Given the description of an element on the screen output the (x, y) to click on. 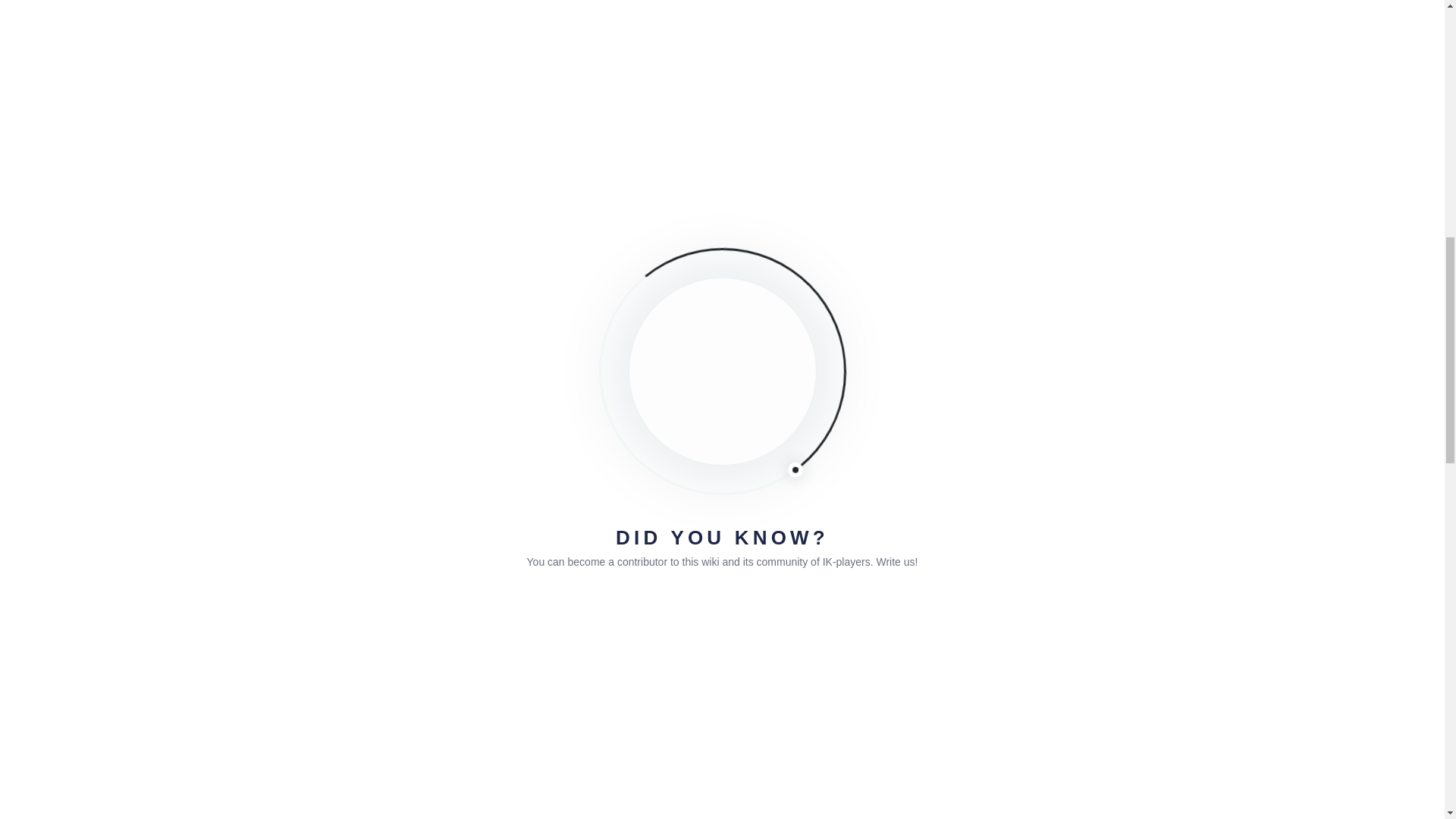
Game Discord (603, 711)
NEWS: New KVK map is coming to Infinity Kingdom! (1074, 340)
